Given the description of an element on the screen output the (x, y) to click on. 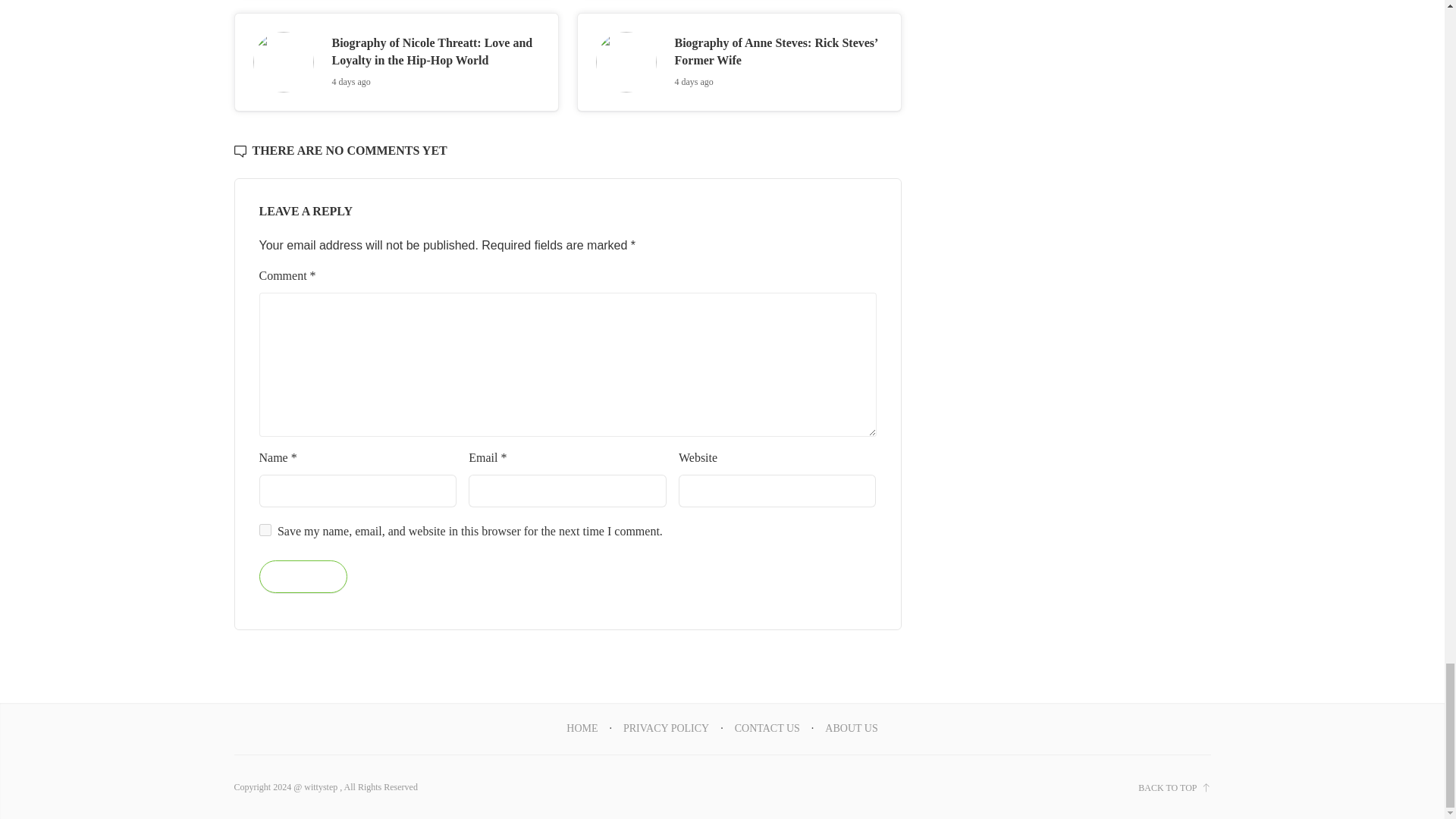
BACK TO TOP (1173, 787)
8 August 2024 (351, 81)
yes (264, 530)
Post Comment (303, 576)
8 August 2024 (694, 81)
Post Comment (303, 576)
